Given the description of an element on the screen output the (x, y) to click on. 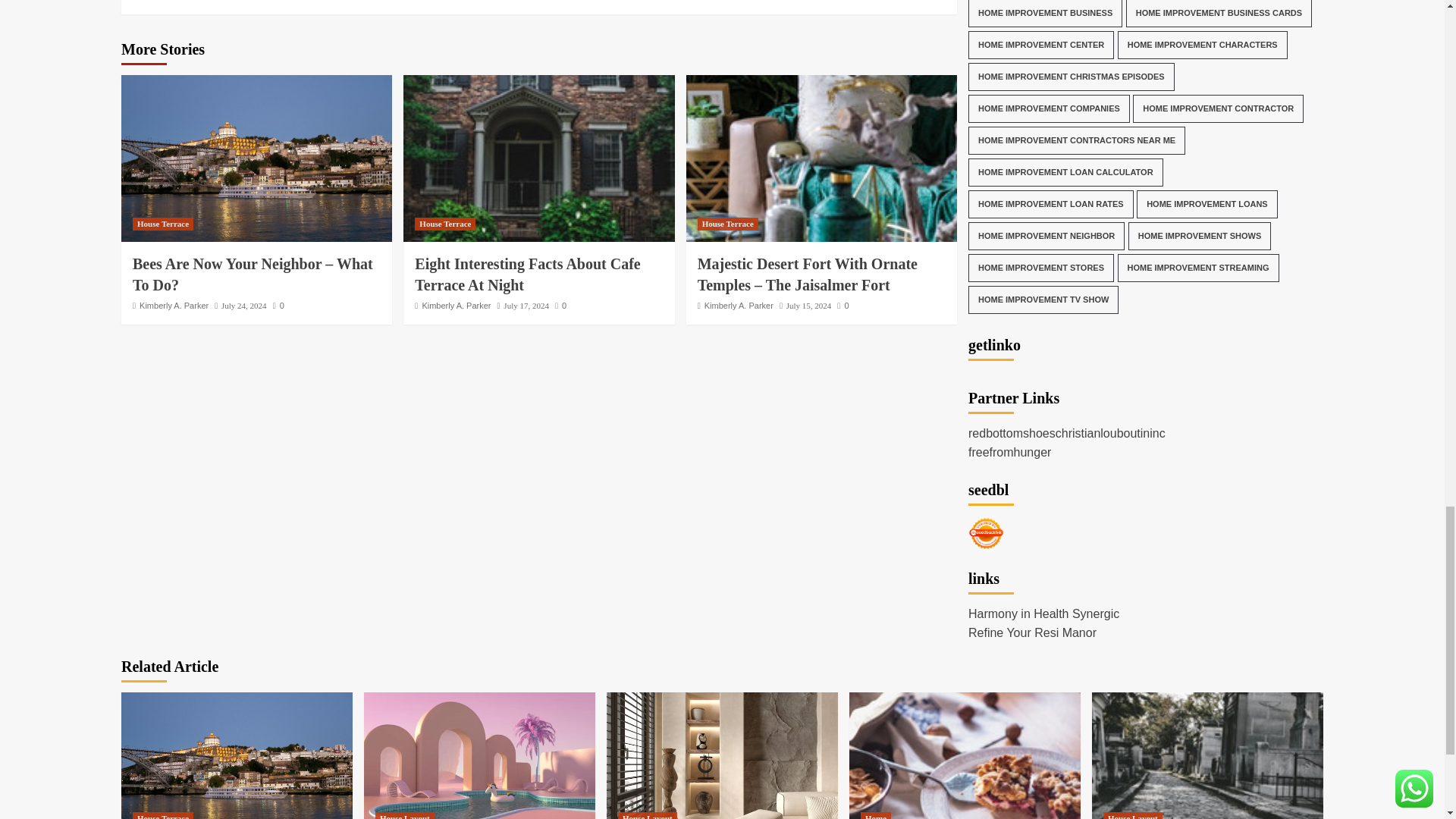
Kimberly A. Parker (173, 305)
Eight Interesting Facts About Cafe Terrace At Night (538, 158)
House Terrace (162, 223)
Seedbacklink (986, 533)
Healthcare Interior Design Trends (722, 755)
July 24, 2024 (243, 305)
